Given the description of an element on the screen output the (x, y) to click on. 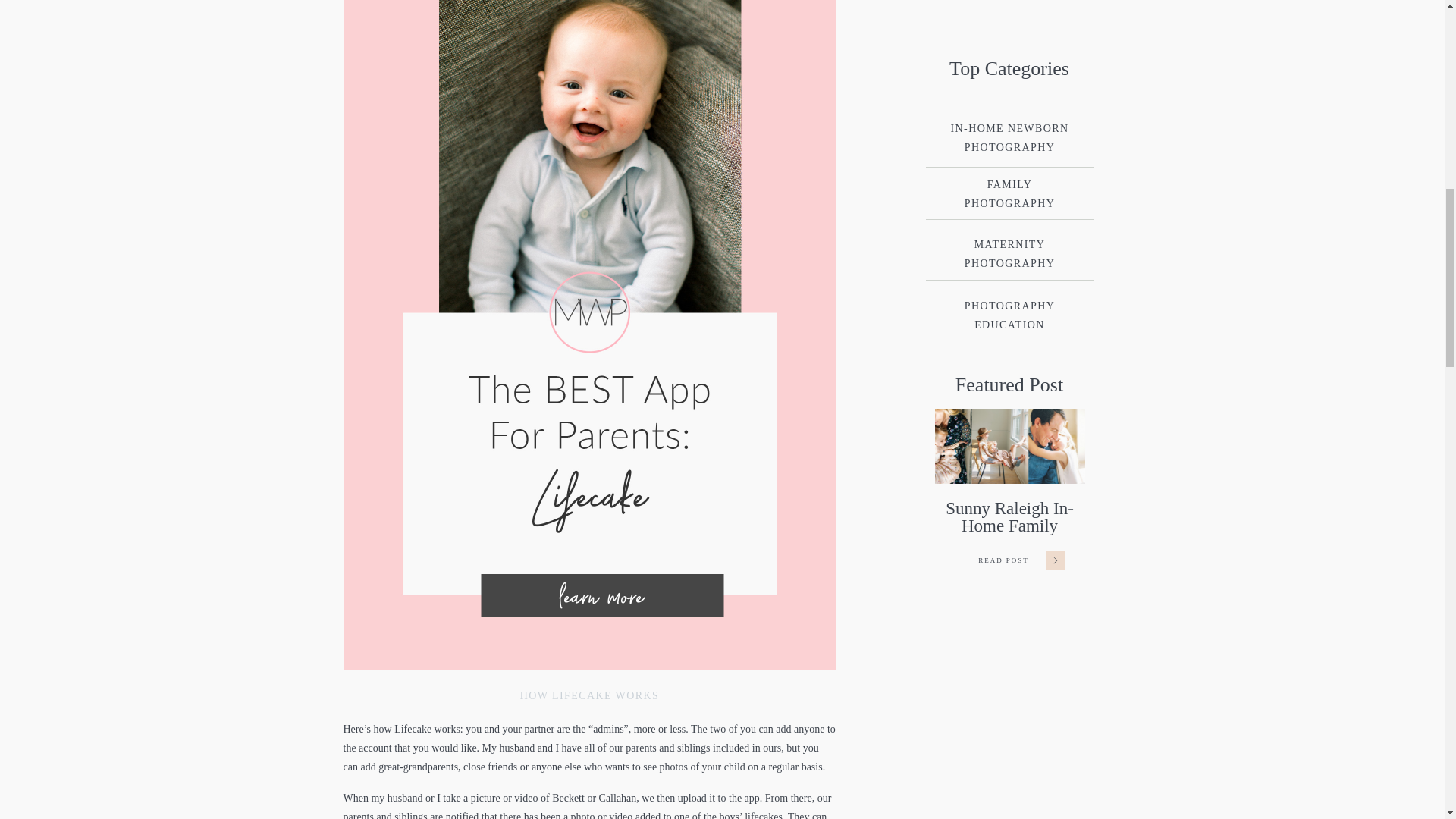
PHOTOGRAPHY EDUCATION (1009, 314)
FAMILY PHOTOGRAPHY (1009, 191)
MATERNITY PHOTOGRAPHY (1009, 253)
READ POST (1003, 561)
Sunny Raleigh In-Home Family Photo Session (1054, 557)
Sunny Raleigh In-Home Family Photo Session (1003, 561)
Sunny Raleigh In-Home Family Photo Session (1054, 560)
Sunny Raleigh In-Home Family Photo Session (1003, 560)
Sunny Raleigh In-Home Family Photo Session (1009, 446)
IN-HOME NEWBORN PHOTOGRAPHY (1009, 135)
Sunny Raleigh In-Home Family Photo Session (1009, 525)
